Given the description of an element on the screen output the (x, y) to click on. 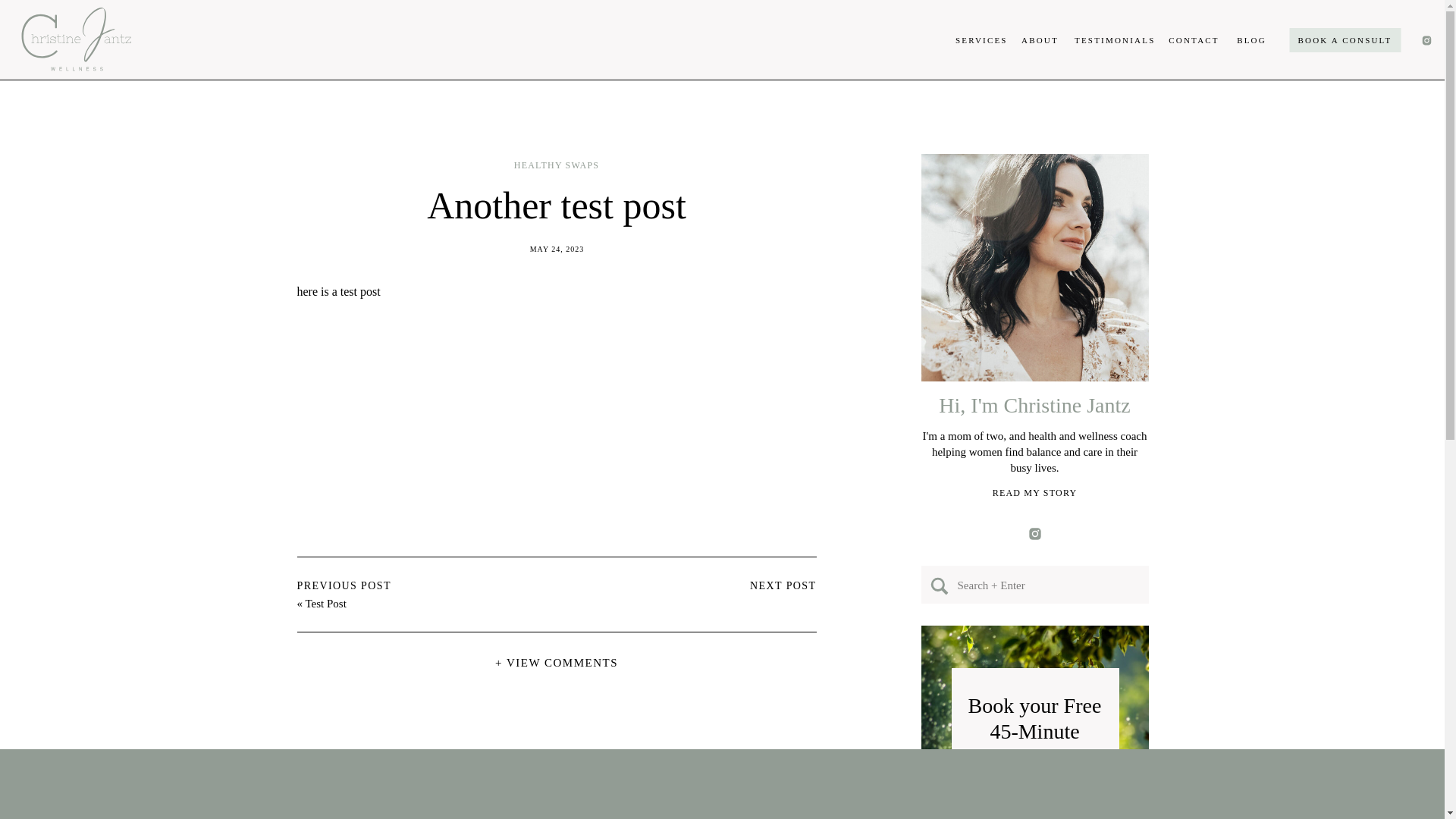
HEALTHY SWAPS (125, 20)
MOVEMENT (211, 20)
ABOUT (1039, 40)
BOOK A CONSULT (1344, 39)
SERVICES (979, 40)
BOOK MY CALL! (1034, 814)
WELLNESS THOUGHTS (309, 20)
CONTACT (1193, 40)
READ MY STORY (1034, 493)
Test Post (325, 603)
